Given the description of an element on the screen output the (x, y) to click on. 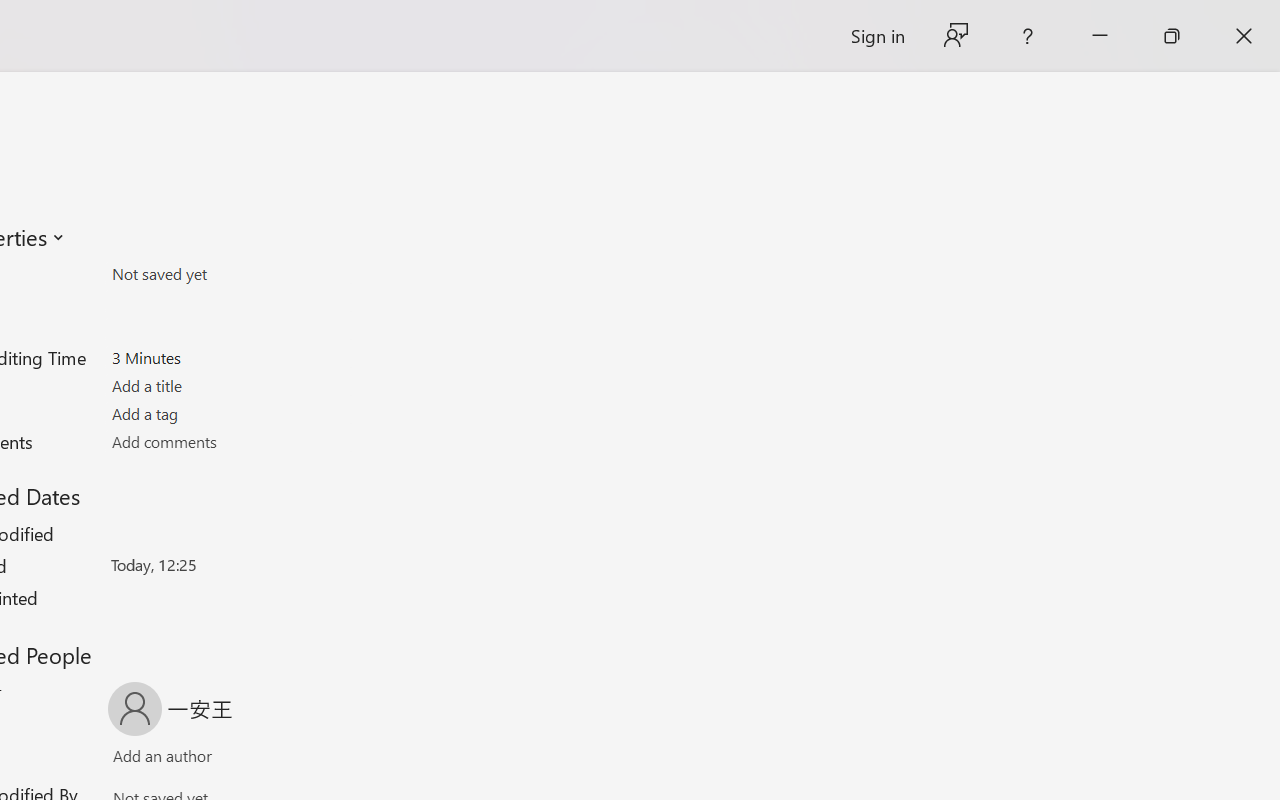
Add an author (142, 759)
Size (228, 274)
Verify Names (197, 759)
Words (228, 330)
Tags (228, 413)
Browse Address Book (291, 760)
Pages (228, 301)
